Given the description of an element on the screen output the (x, y) to click on. 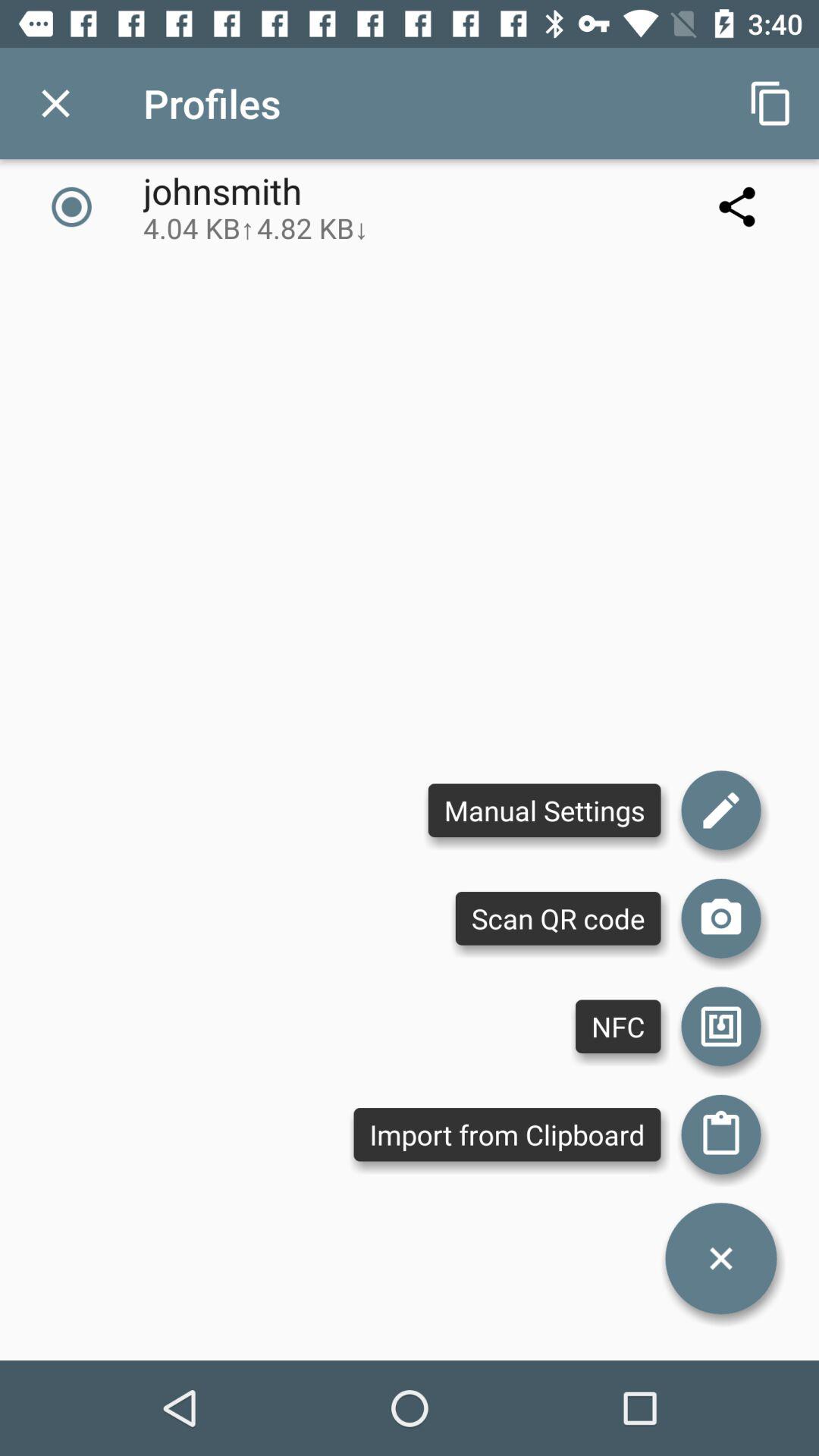
select nfc menu (721, 1026)
